Given the description of an element on the screen output the (x, y) to click on. 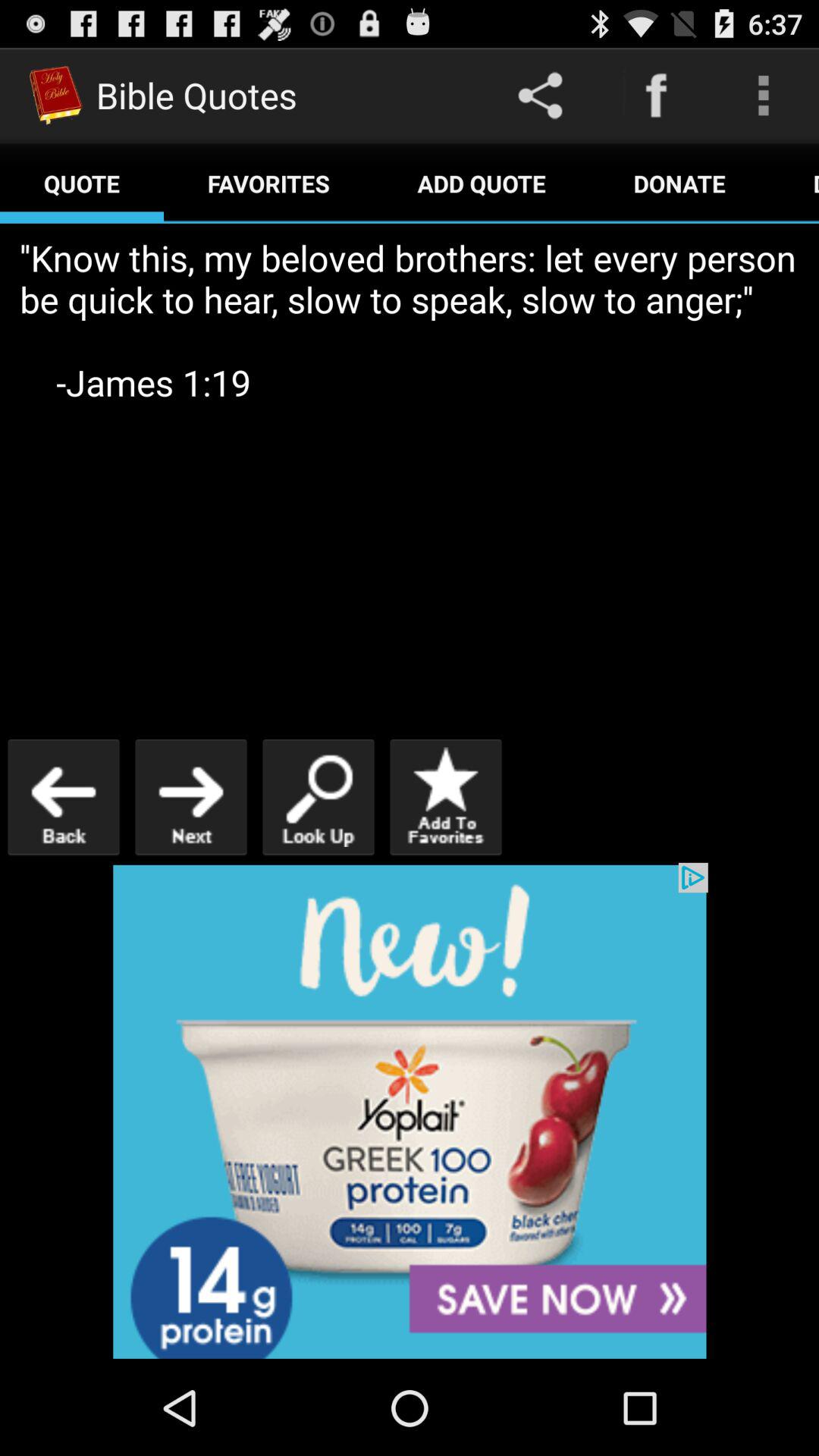
go to next quote (190, 796)
